Given the description of an element on the screen output the (x, y) to click on. 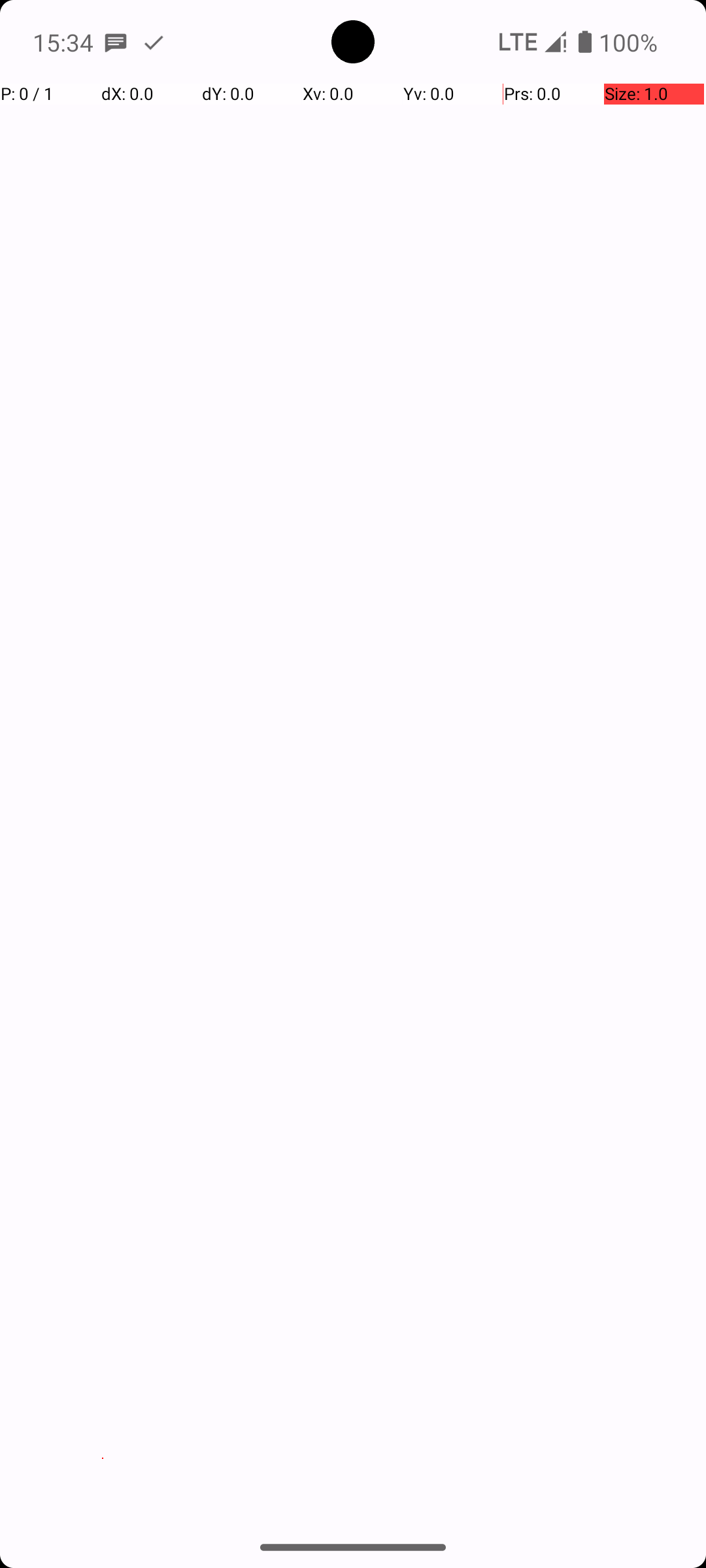
SMS Messenger notification: Daniel Ali Element type: android.widget.ImageView (115, 41)
Contacts notification: Finished exporting contacts.vcf. Element type: android.widget.ImageView (153, 41)
